Given the description of an element on the screen output the (x, y) to click on. 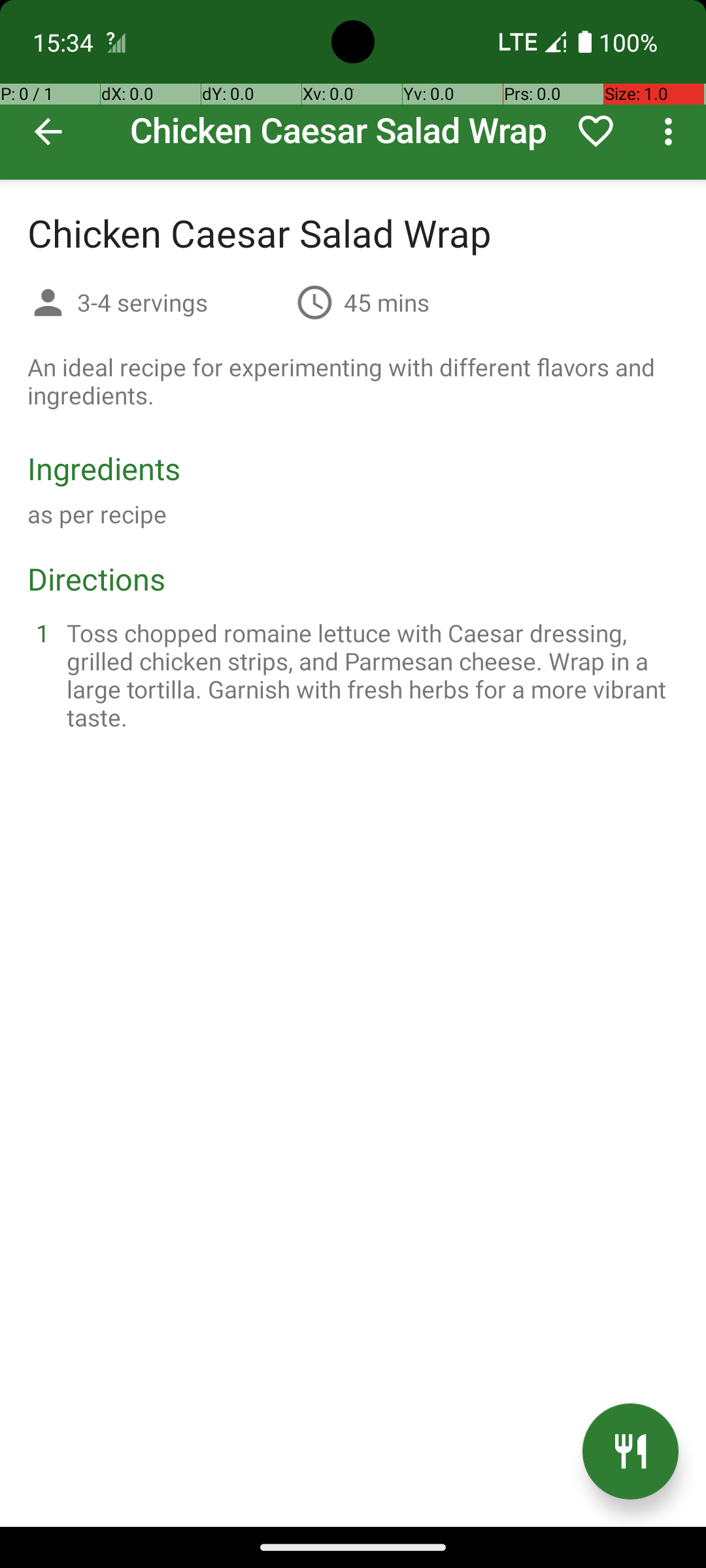
Toss chopped romaine lettuce with Caesar dressing, grilled chicken strips, and Parmesan cheese. Wrap in a large tortilla. Garnish with fresh herbs for a more vibrant taste. Element type: android.widget.TextView (368, 674)
